Given the description of an element on the screen output the (x, y) to click on. 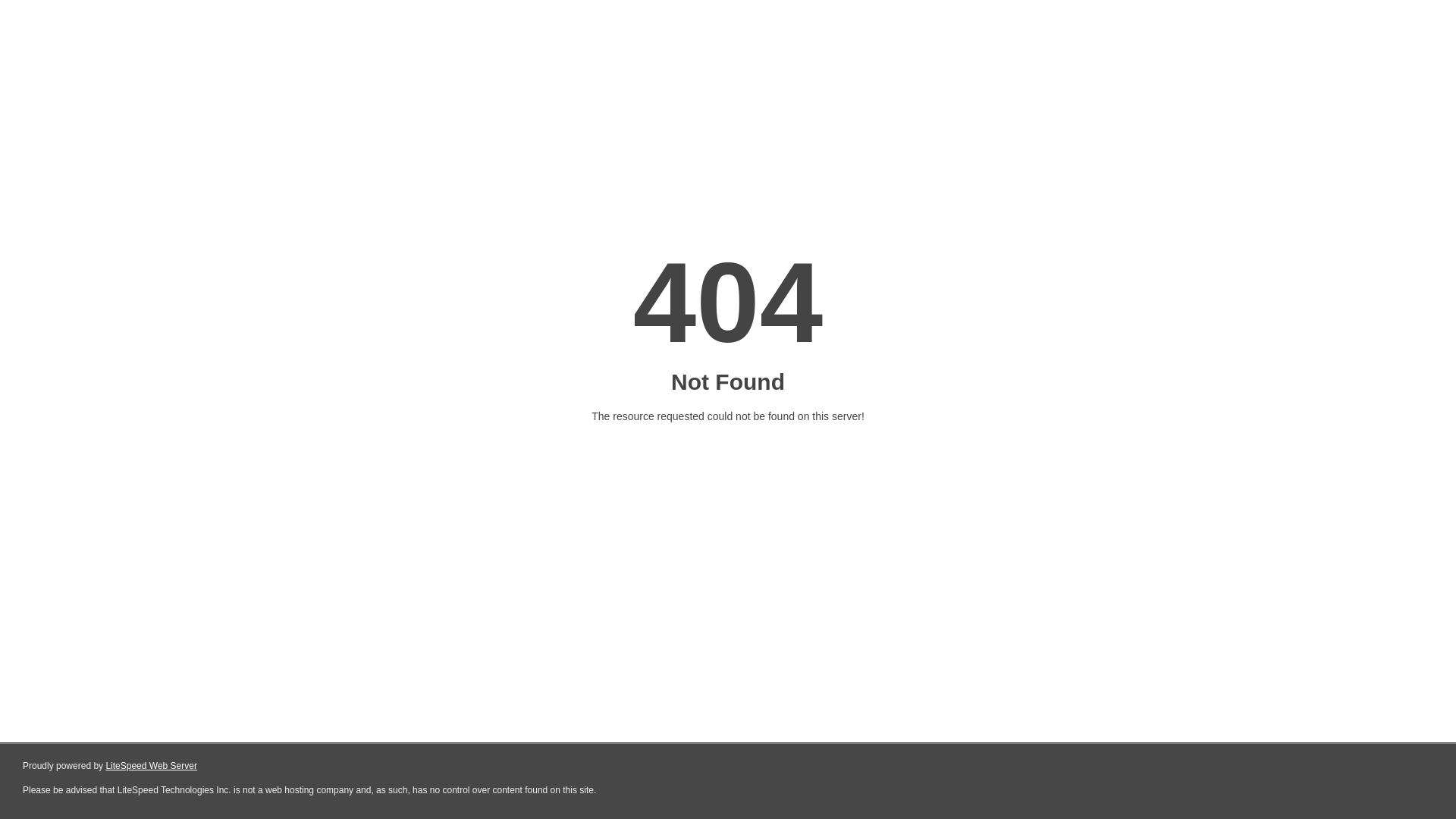
LiteSpeed Web Server Element type: text (151, 765)
